Given the description of an element on the screen output the (x, y) to click on. 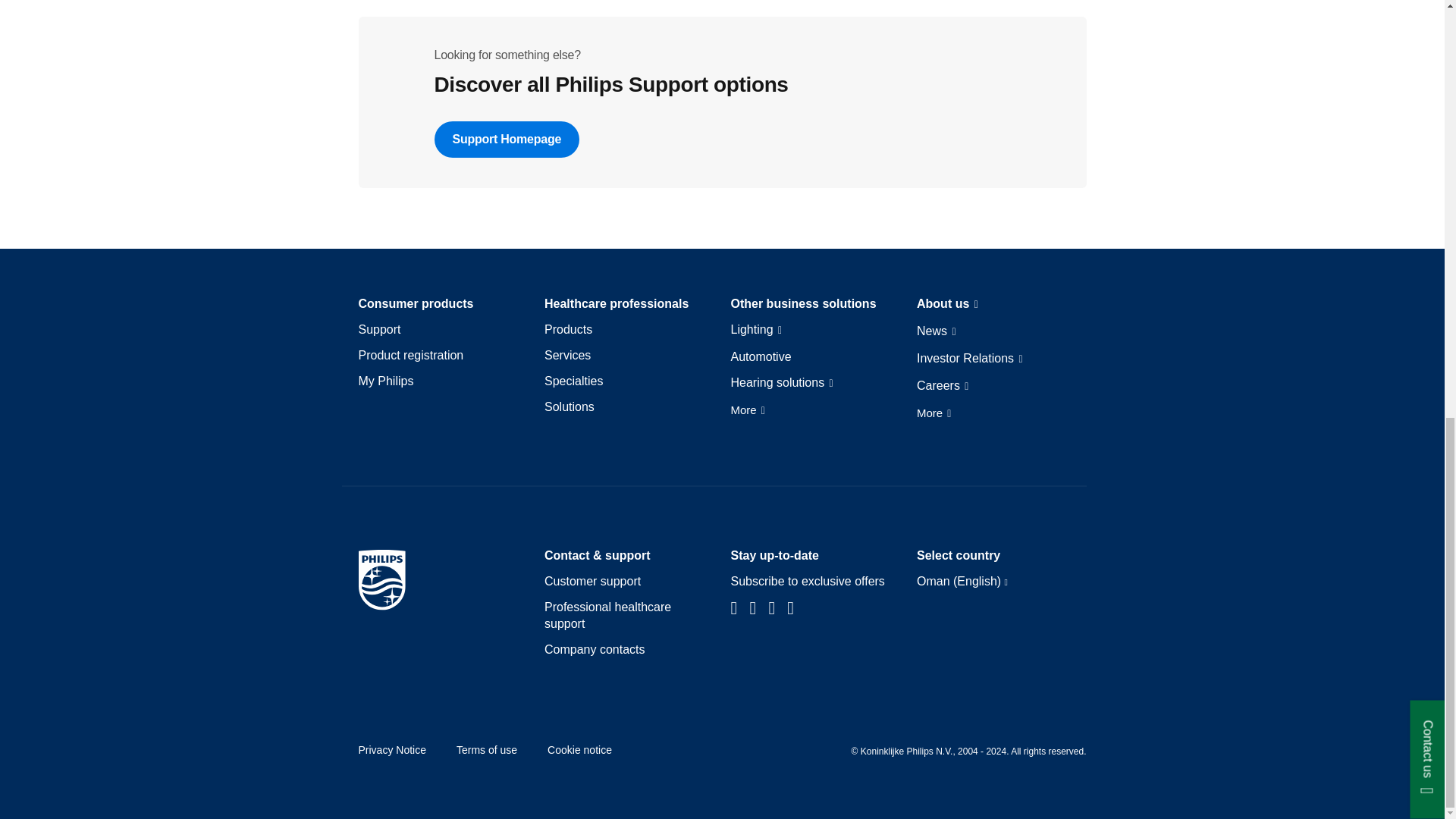
Solutions (569, 406)
Healthcare professionals (616, 303)
Products (568, 329)
My Philips (385, 381)
Services (567, 355)
Product registration (410, 355)
Consumer products (415, 303)
Support (379, 329)
Specialties (573, 381)
About us (947, 304)
Automotive (761, 356)
